Given the description of an element on the screen output the (x, y) to click on. 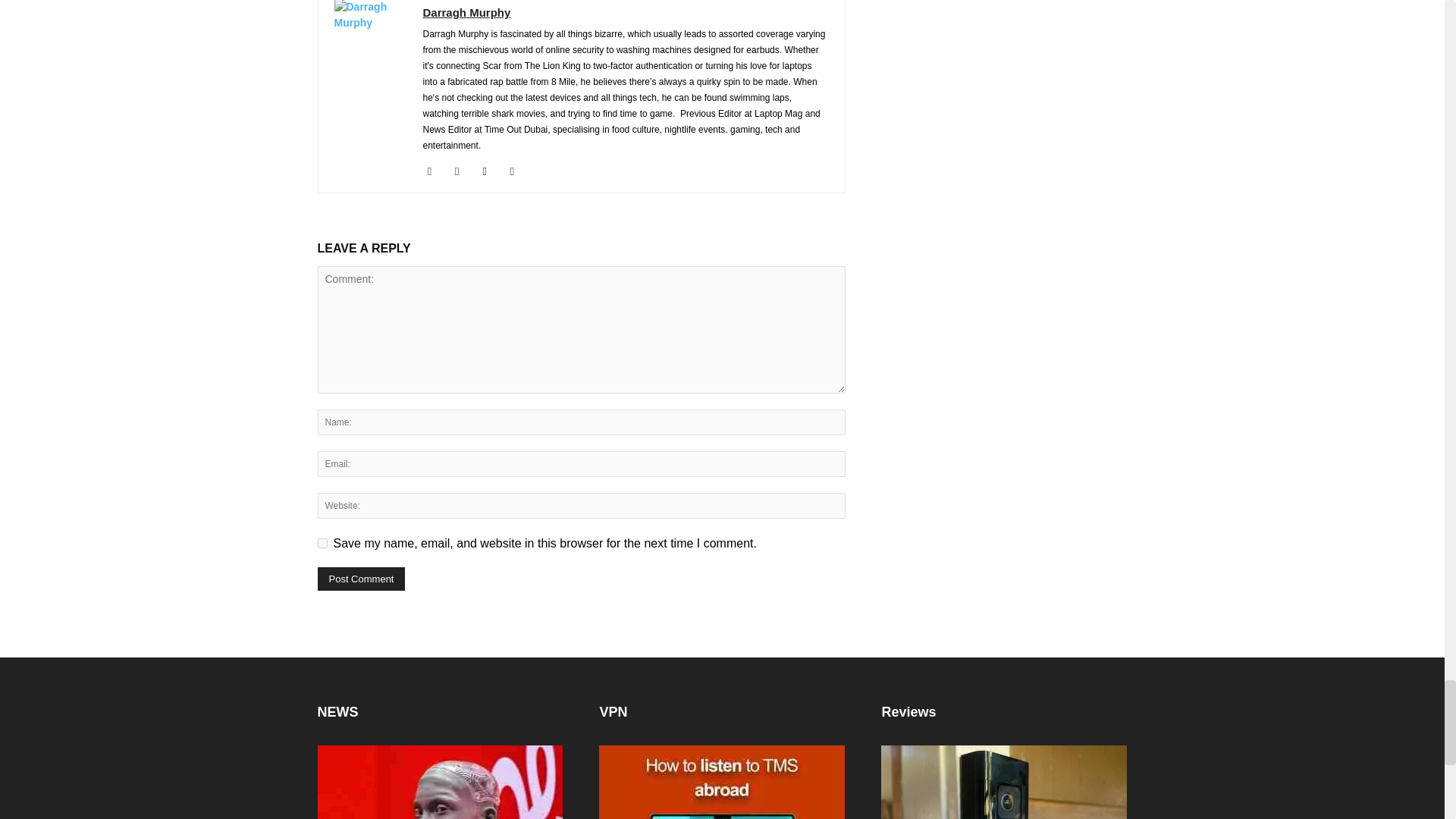
yes (321, 542)
Post Comment (360, 578)
